Given the description of an element on the screen output the (x, y) to click on. 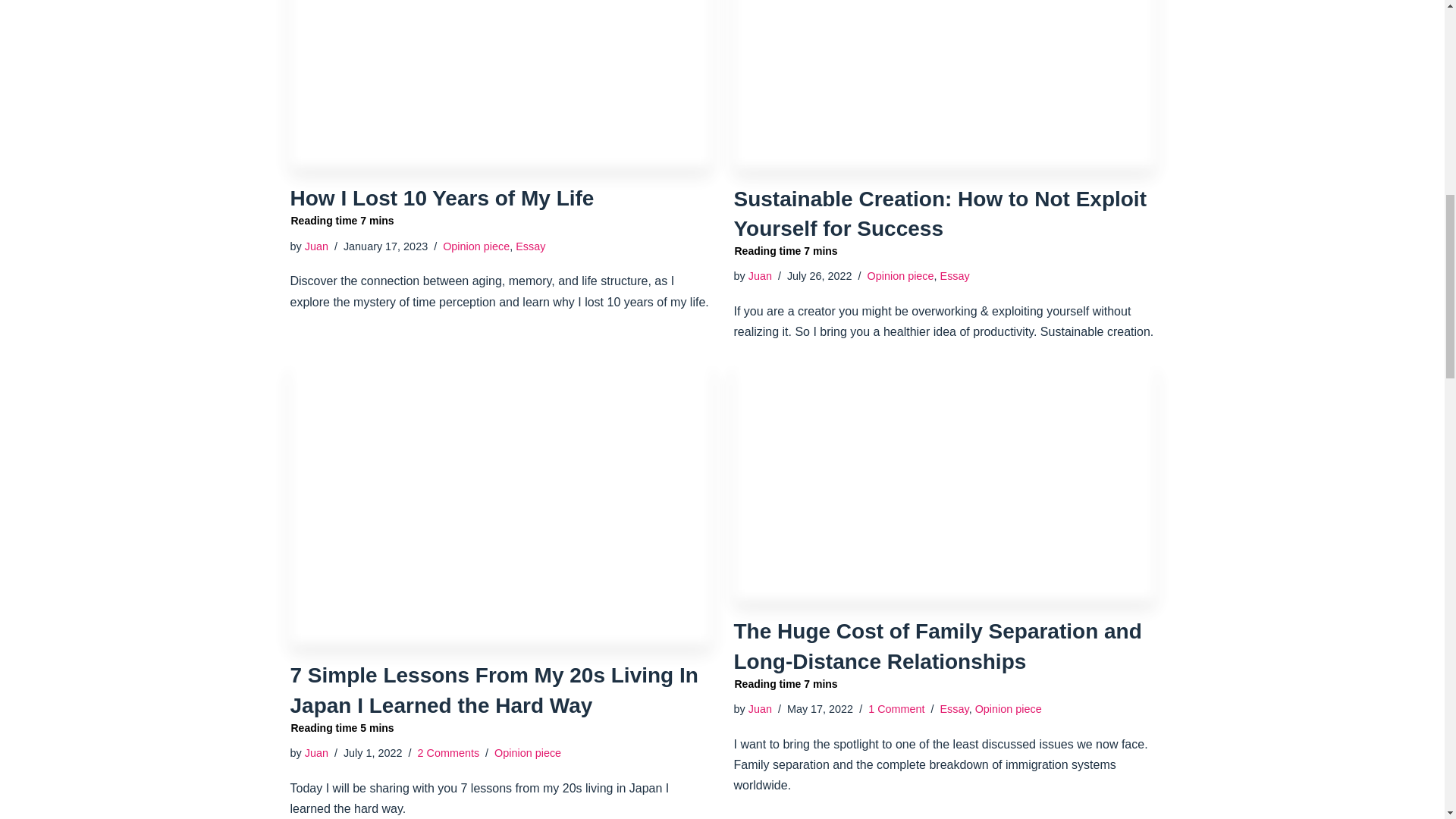
2 Comments (448, 752)
Juan (316, 246)
Opinion piece (527, 752)
Opinion piece (900, 275)
Essay (954, 275)
Juan (499, 84)
Essay (316, 752)
